Given the description of an element on the screen output the (x, y) to click on. 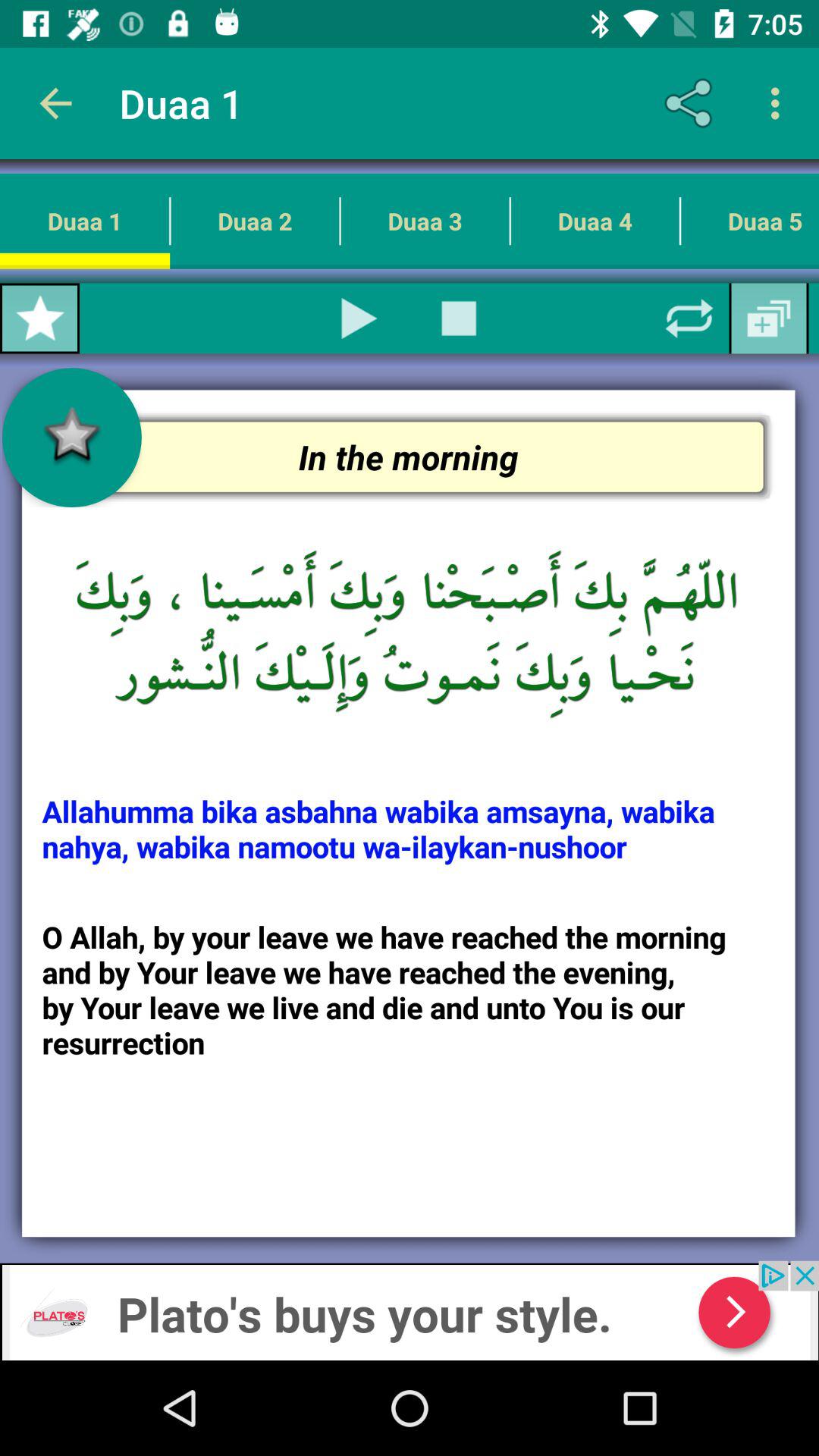
choose the icon below o allah by icon (409, 1310)
